Given the description of an element on the screen output the (x, y) to click on. 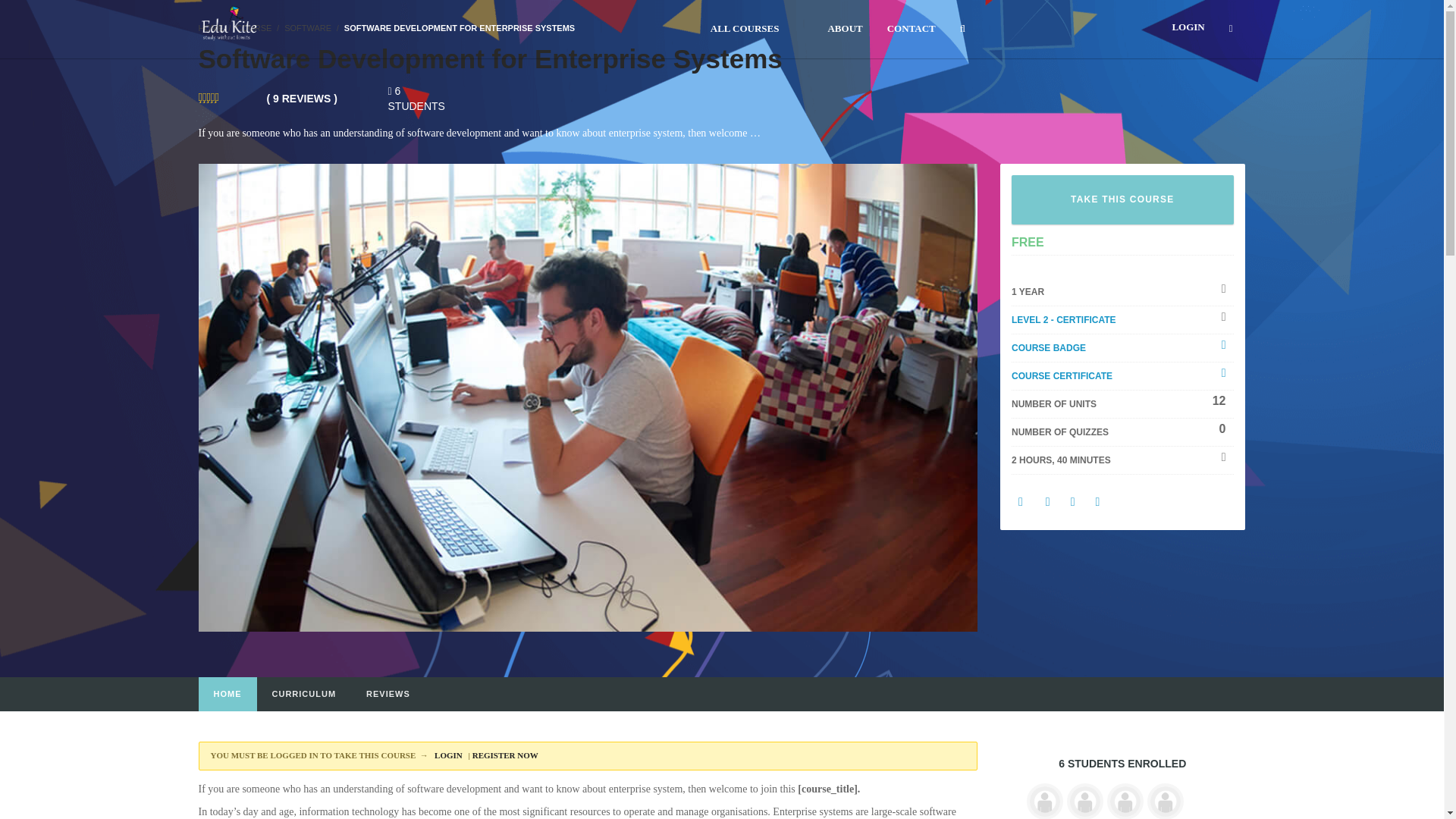
TAKE THIS COURSE (1122, 199)
Share on Facebook (1020, 501)
LOGIN (448, 755)
HOME (227, 694)
REVIEWS (387, 694)
CURRICULUM (303, 694)
LEVEL 2 - CERTIFICATE (1063, 319)
COURSE (252, 27)
COURSE CERTIFICATE (1061, 376)
HOME (211, 27)
